Given the description of an element on the screen output the (x, y) to click on. 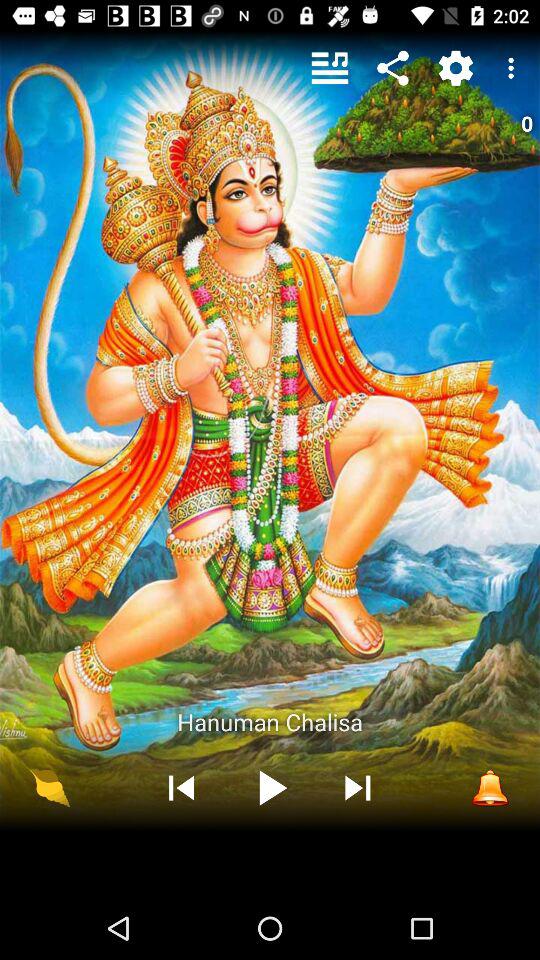
launch item below hanuman chalisa icon (49, 787)
